Given the description of an element on the screen output the (x, y) to click on. 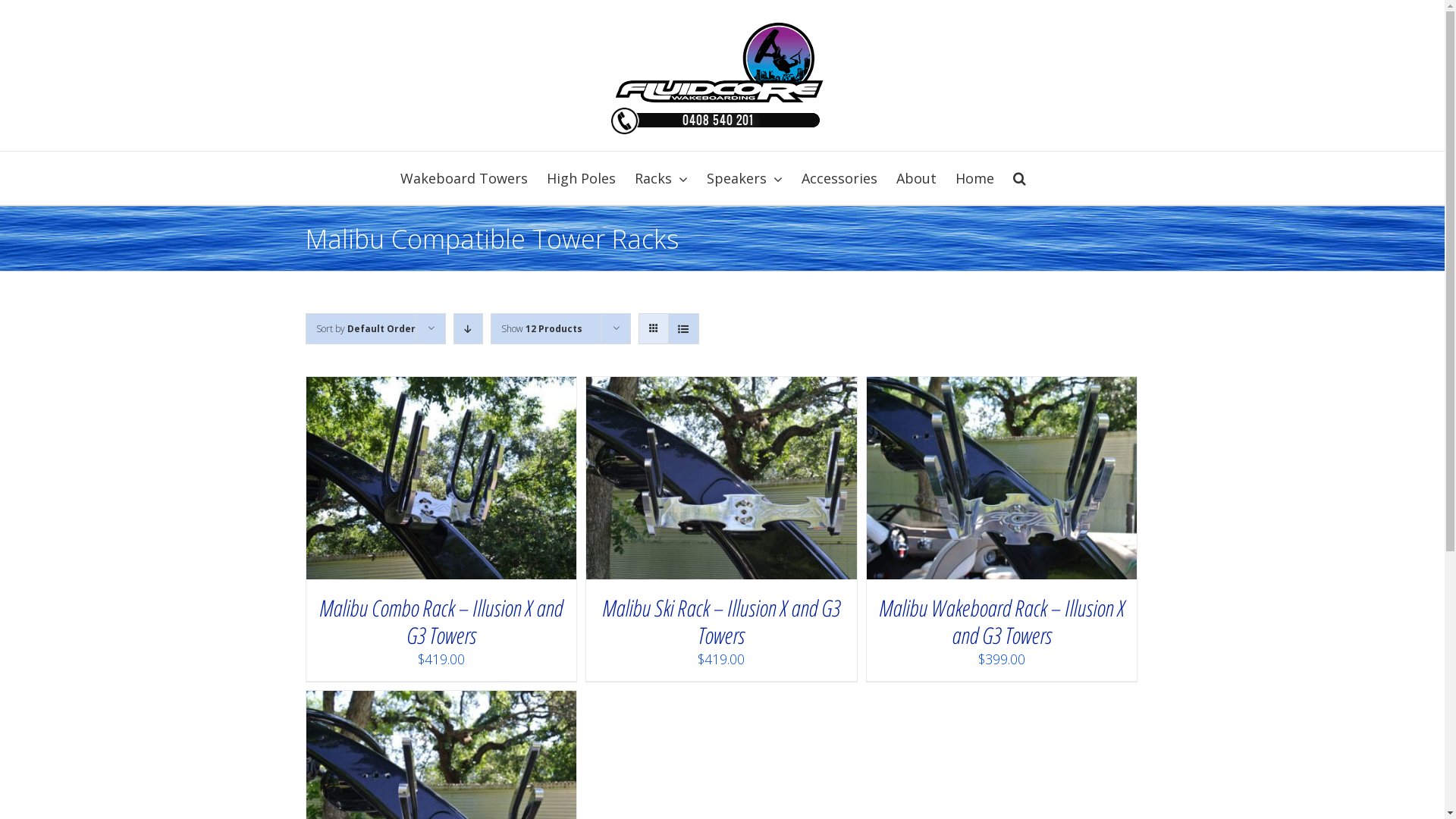
Search Element type: hover (1019, 177)
Speakers Element type: text (744, 177)
Show 12 Products Element type: text (540, 328)
High Poles Element type: text (580, 177)
Sort by Default Order Element type: text (364, 328)
Wakeboard Towers Element type: text (463, 177)
About Element type: text (916, 177)
Home Element type: text (974, 177)
Racks Element type: text (660, 177)
Accessories Element type: text (838, 177)
